Given the description of an element on the screen output the (x, y) to click on. 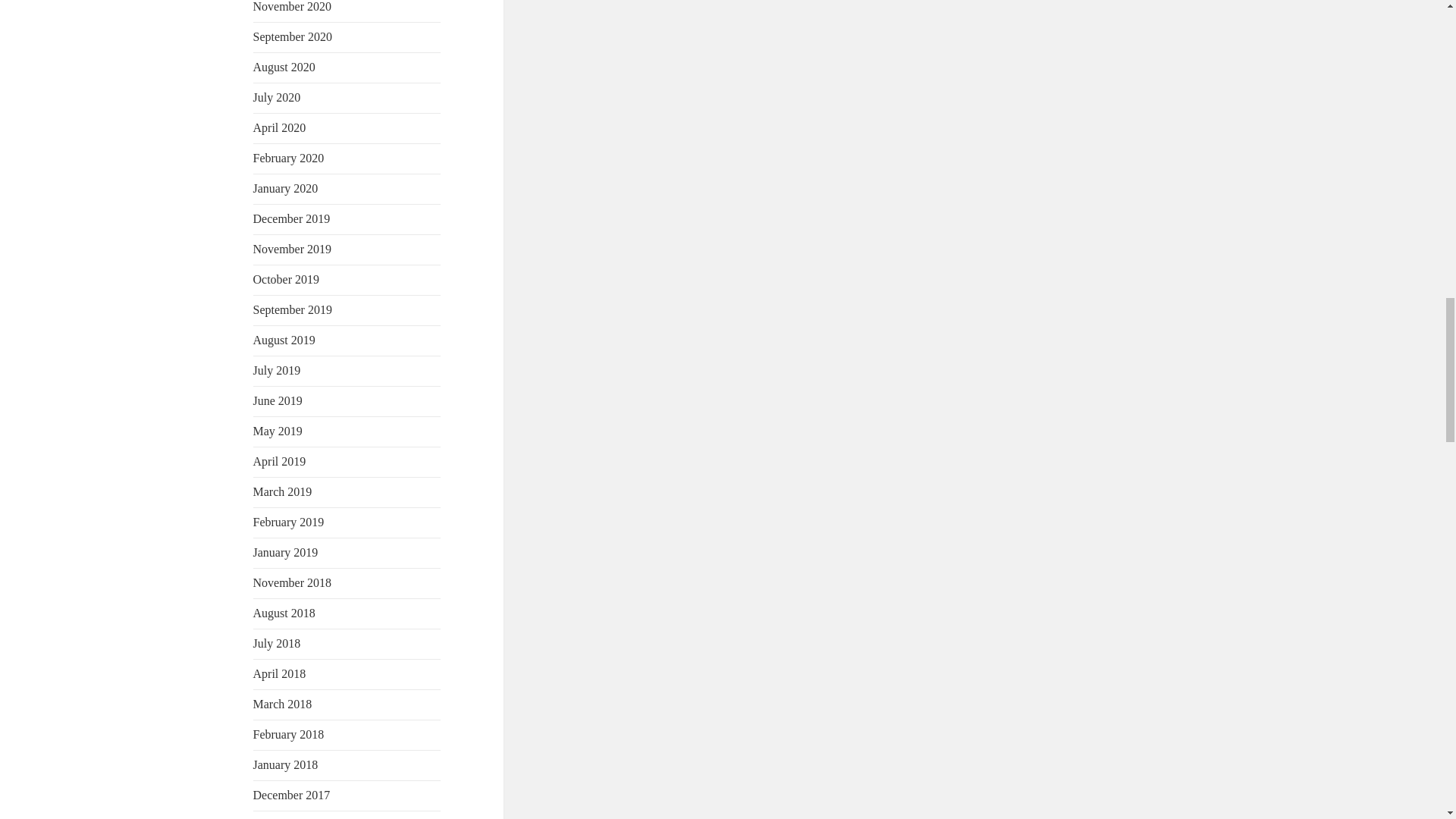
August 2019 (284, 339)
May 2019 (277, 431)
November 2019 (292, 248)
June 2019 (277, 400)
July 2019 (277, 369)
September 2020 (292, 36)
January 2020 (285, 187)
February 2020 (288, 157)
April 2019 (279, 461)
February 2019 (288, 521)
November 2020 (292, 6)
January 2019 (285, 552)
August 2020 (284, 66)
September 2019 (292, 309)
March 2019 (283, 491)
